Given the description of an element on the screen output the (x, y) to click on. 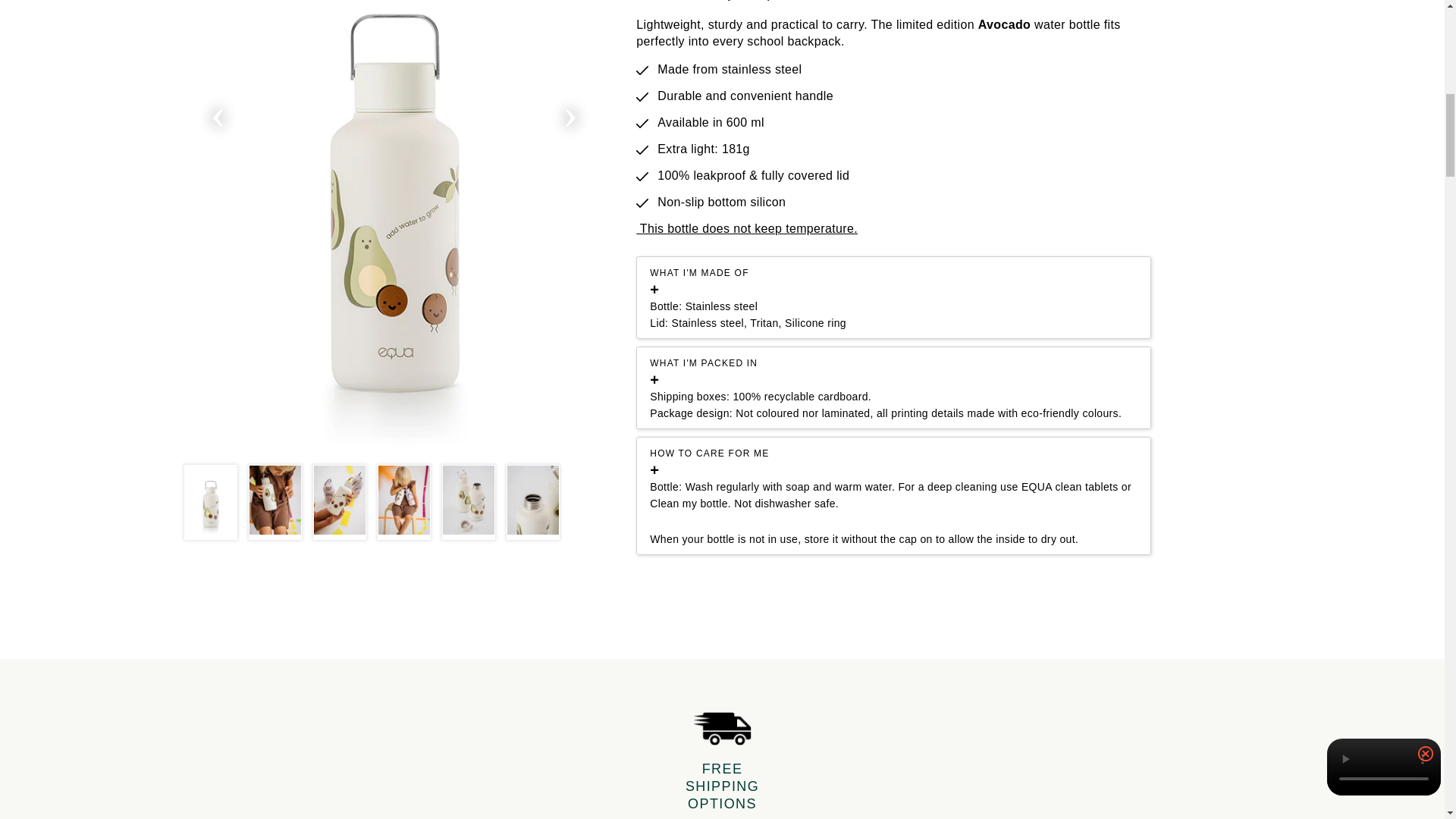
EQUA clean water bottle tabs (1070, 486)
Clean water bottle natural one use solution (688, 503)
